Given the description of an element on the screen output the (x, y) to click on. 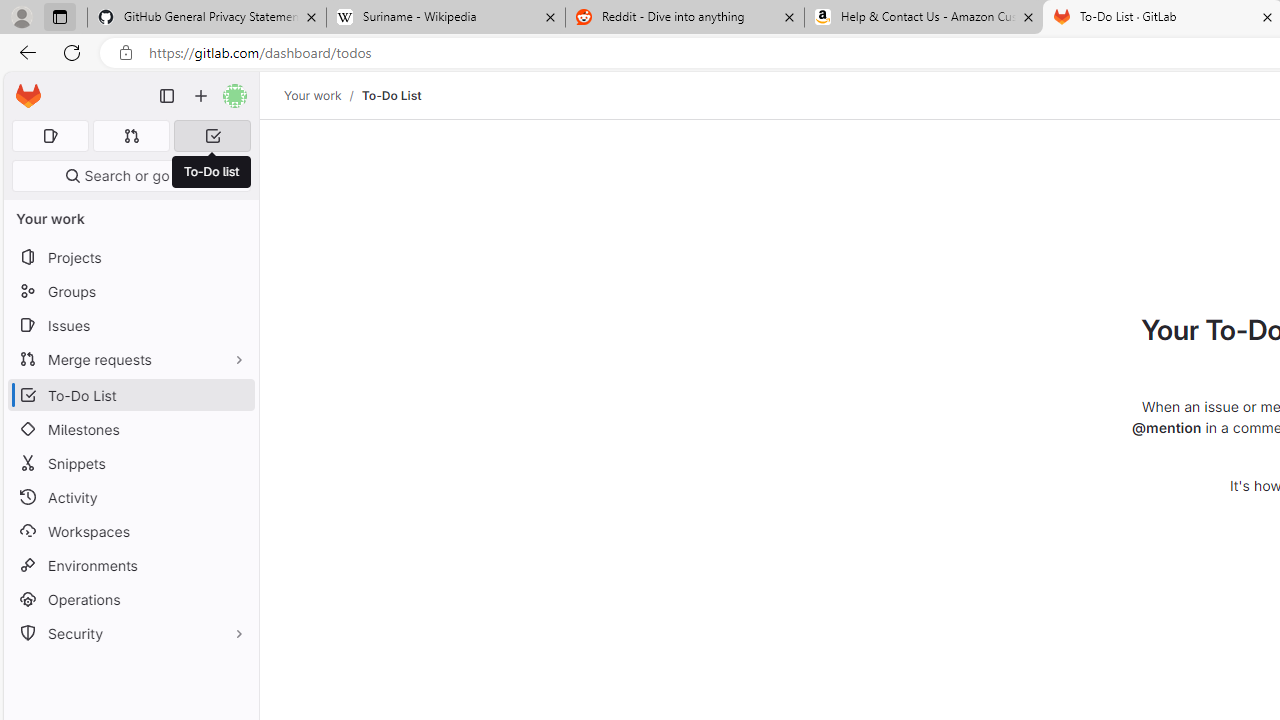
Your work (312, 95)
Security (130, 633)
Primary navigation sidebar (167, 96)
Merge requests 0 (131, 136)
Activity (130, 497)
Milestones (130, 429)
GitHub General Privacy Statement - GitHub Docs (207, 17)
To-Do list 0 (212, 136)
Snippets (130, 463)
To-Do List (391, 95)
